Given the description of an element on the screen output the (x, y) to click on. 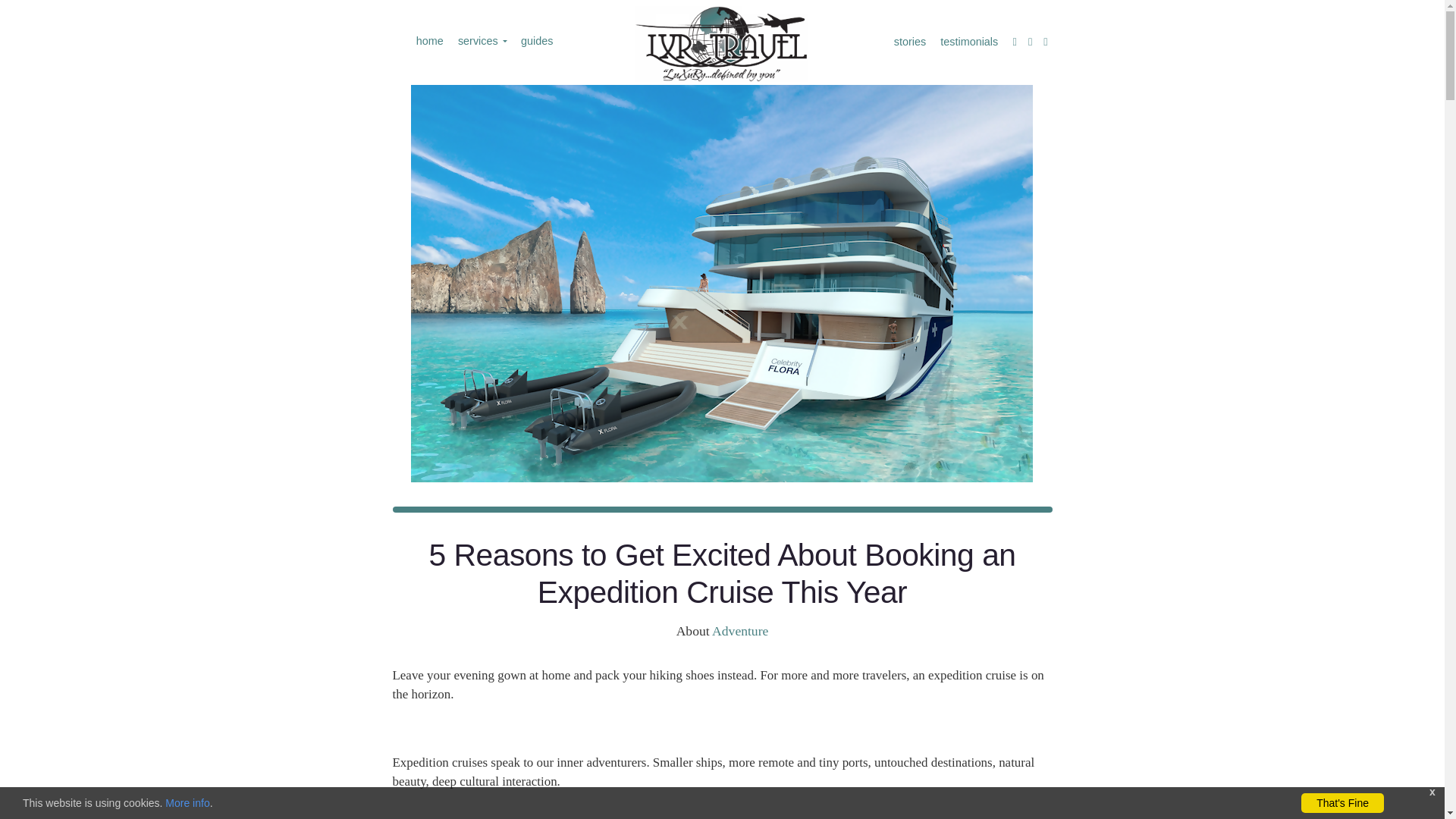
home (428, 41)
stories (909, 41)
guides (535, 41)
services (480, 41)
Adventure (739, 630)
testimonials (967, 41)
